Given the description of an element on the screen output the (x, y) to click on. 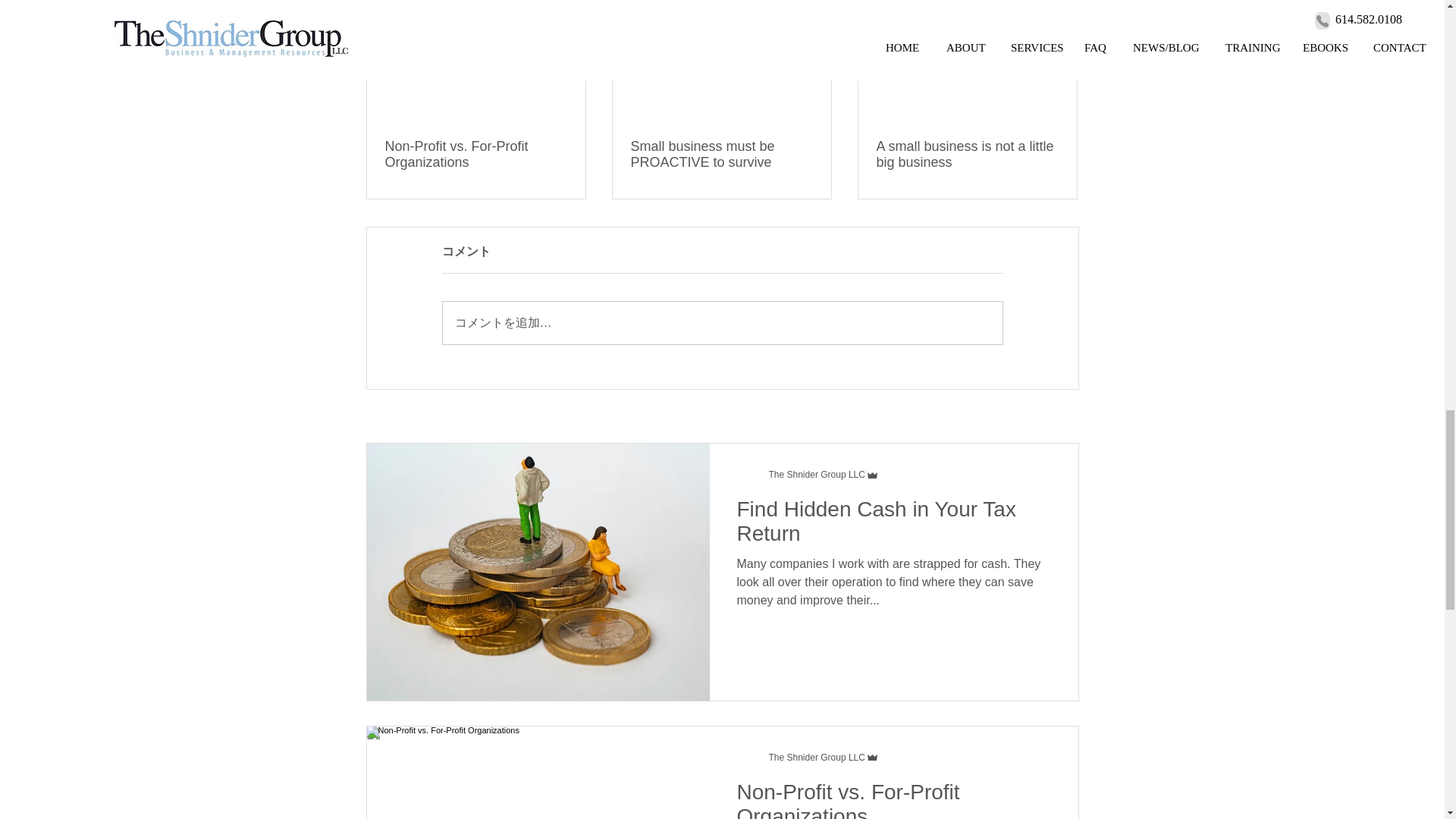
Non-Profit vs. For-Profit Organizations (476, 154)
The Shnider Group LLC (816, 474)
The Shnider Group LLC (823, 474)
The Shnider Group LLC (816, 757)
A small business is not a little big business (967, 154)
Small business must be PROACTIVE to survive (721, 154)
Find Hidden Cash in Your Tax Return (893, 525)
